Given the description of an element on the screen output the (x, y) to click on. 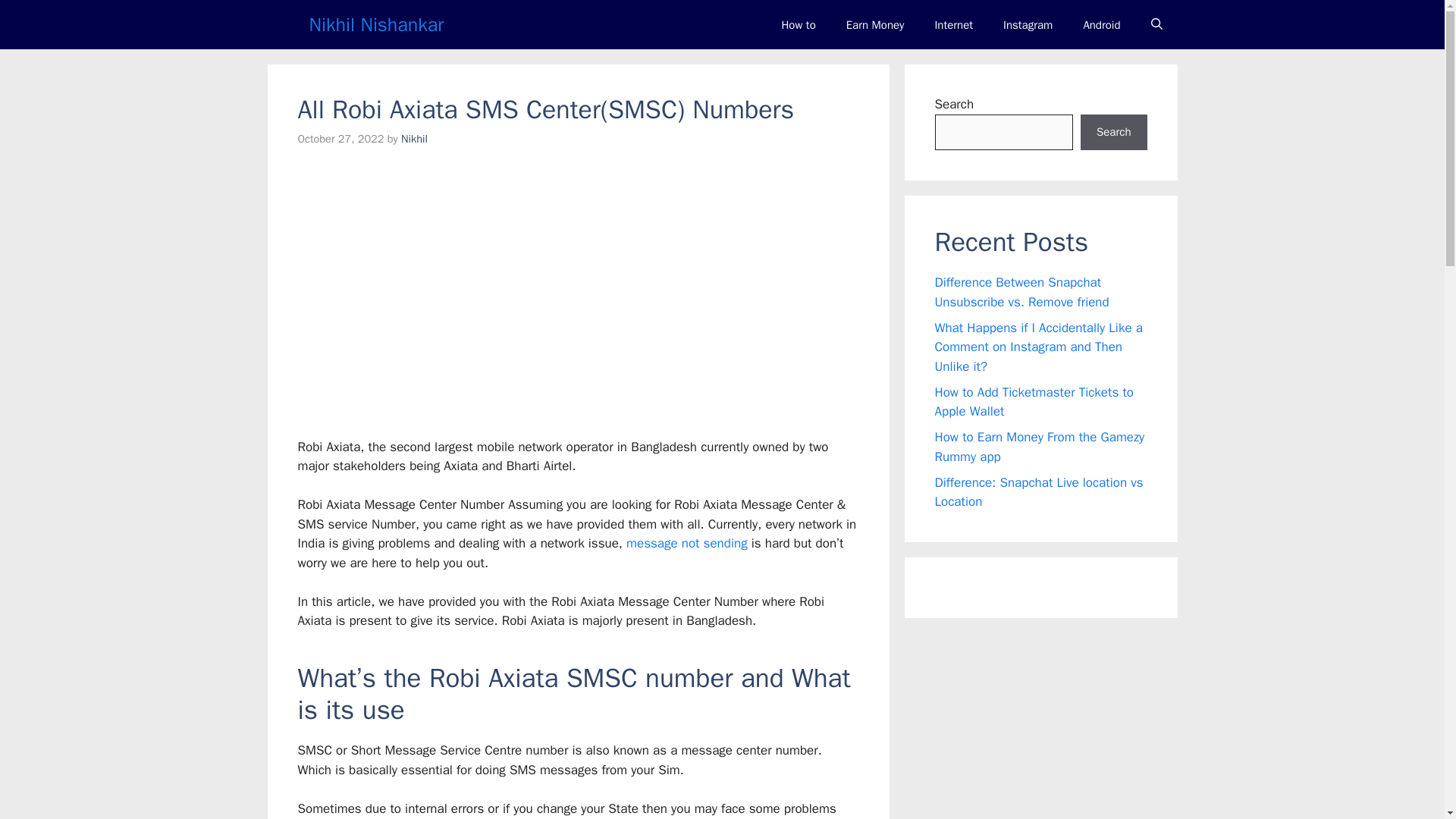
Difference: Snapchat Live location vs Location (1038, 492)
Nikhil (414, 138)
Android (1101, 23)
Search (1113, 131)
Internet (953, 23)
message not sending (687, 543)
How to Earn Money From the Gamezy Rummy app (1039, 447)
How to (797, 23)
Nikhil Nishankar (376, 24)
Earn Money (875, 23)
Difference Between Snapchat Unsubscribe vs. Remove friend (1021, 292)
Instagram (1027, 23)
Nikhil Nishankar (283, 24)
How to Add Ticketmaster Tickets to Apple Wallet (1034, 401)
